Given the description of an element on the screen output the (x, y) to click on. 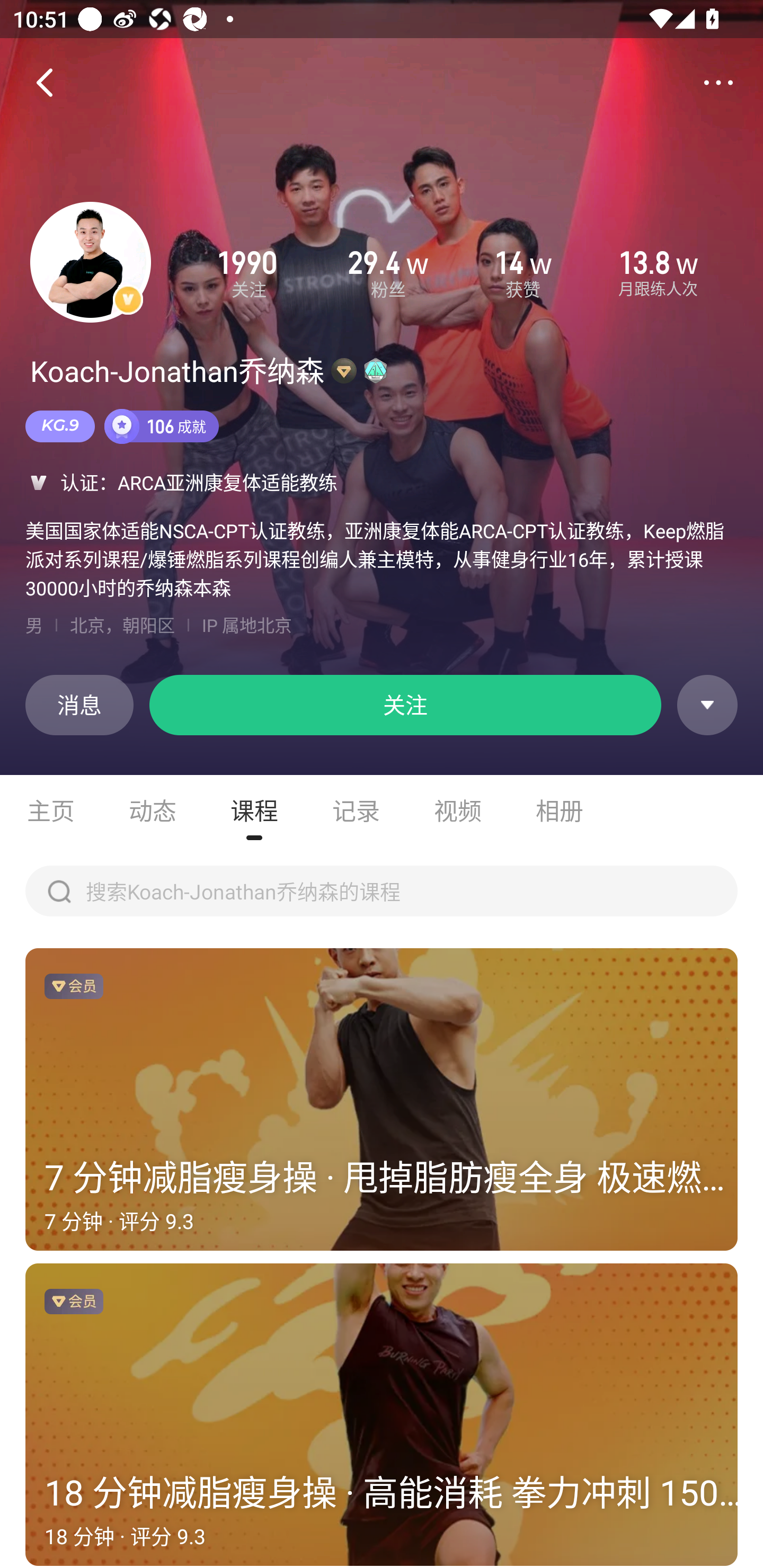
106 成就 (161, 426)
认证： ARCA亚洲康复体适能教练 (381, 481)
消息 (79, 704)
关注 (405, 704)
主页 (50, 810)
动态 (152, 810)
课程 (254, 810)
记录 (355, 810)
视频 (457, 810)
相册 (559, 810)
搜索Koach-Jonathan乔纳森的课程 (381, 891)
7 分钟减脂瘦身操 · 甩掉脂肪瘦全身 极速燃脂 50大卡 7 分钟 · 评分 9.3 (381, 1099)
18 分钟减脂瘦身操 · 高能消耗 拳力冲刺 150大卡 18 分钟 · 评分 9.3 (381, 1414)
